Given the description of an element on the screen output the (x, y) to click on. 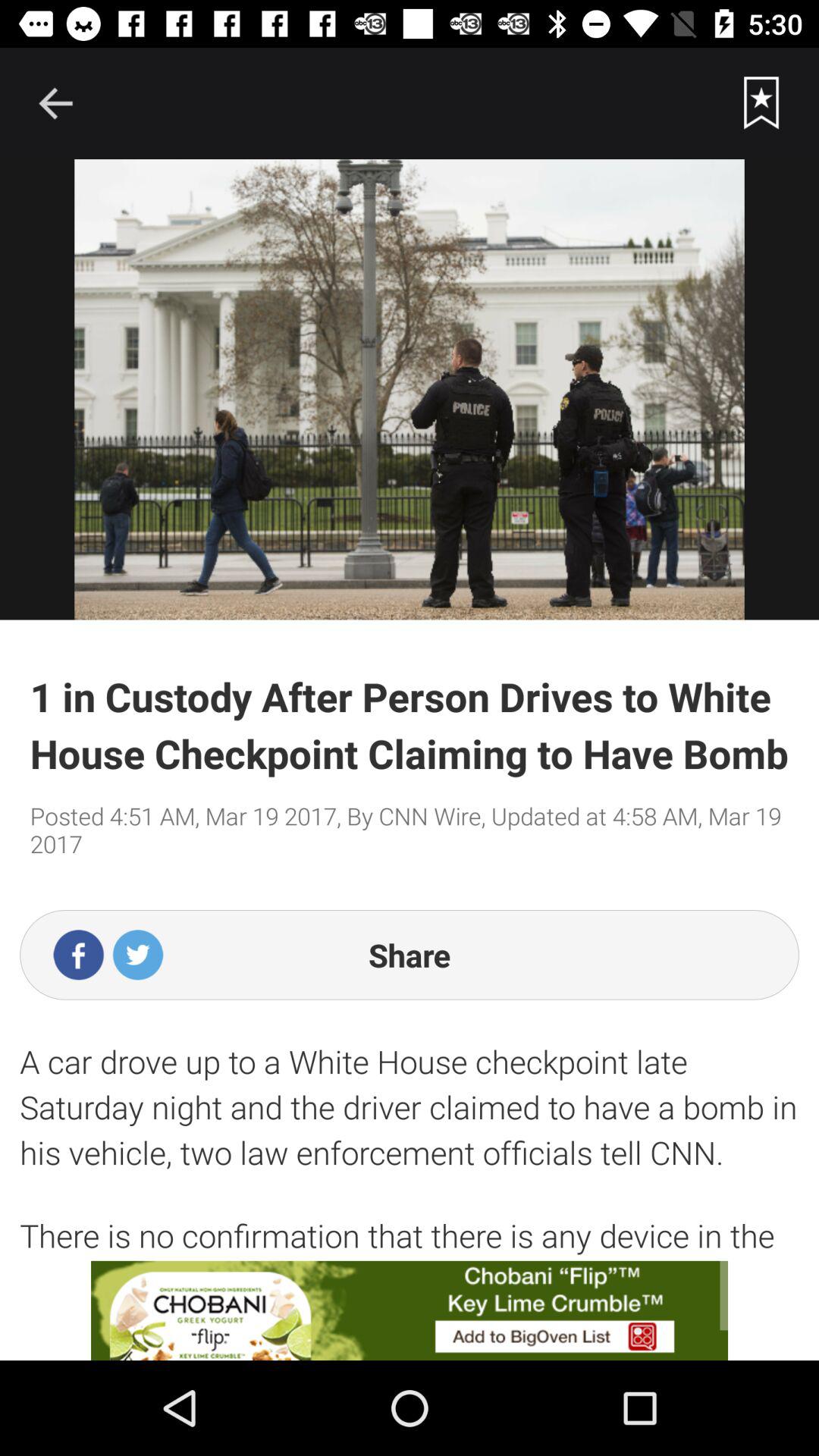
mark this page (761, 102)
